Given the description of an element on the screen output the (x, y) to click on. 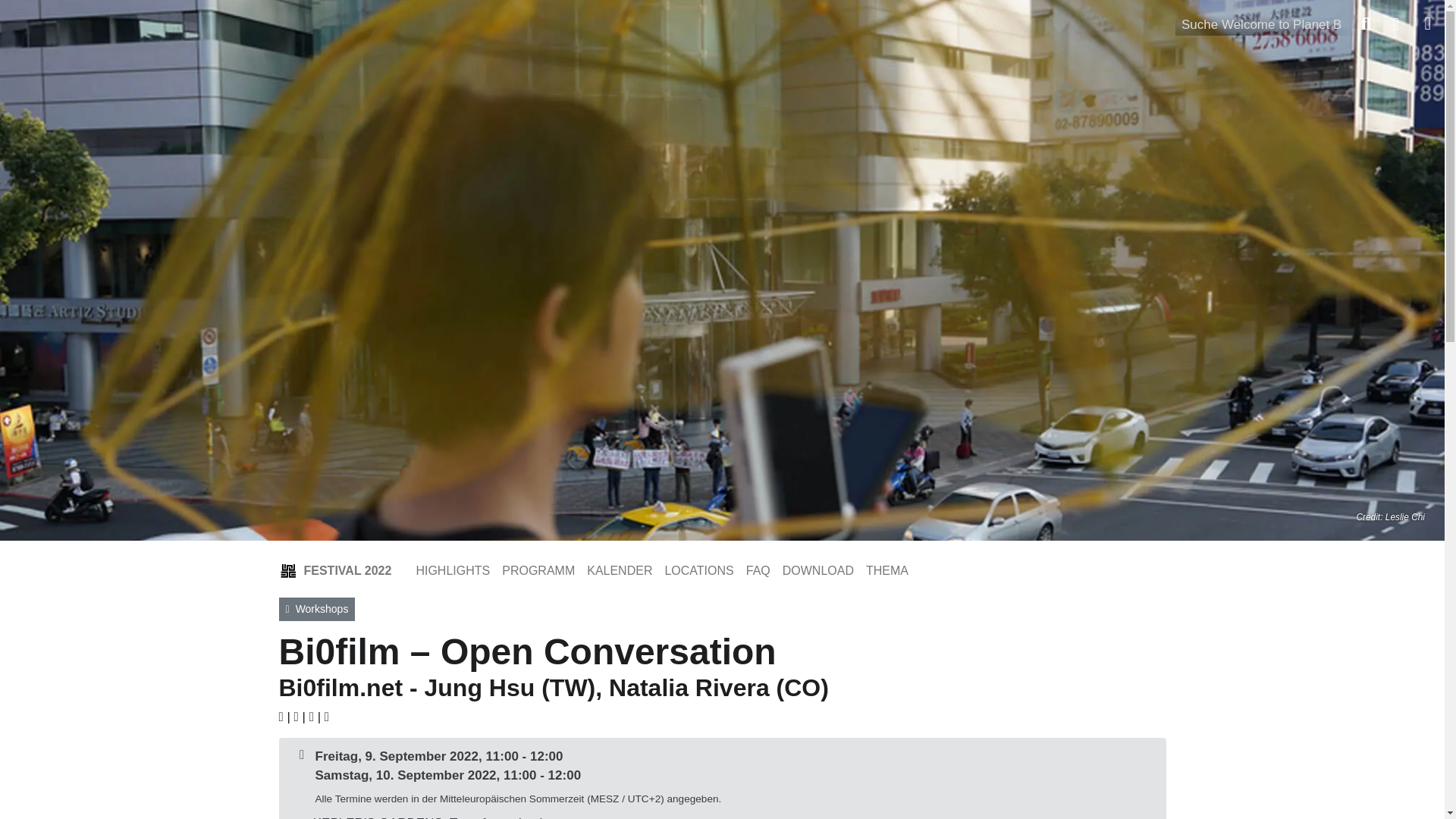
Workshops (317, 608)
Ars Electronica (106, 20)
